Given the description of an element on the screen output the (x, y) to click on. 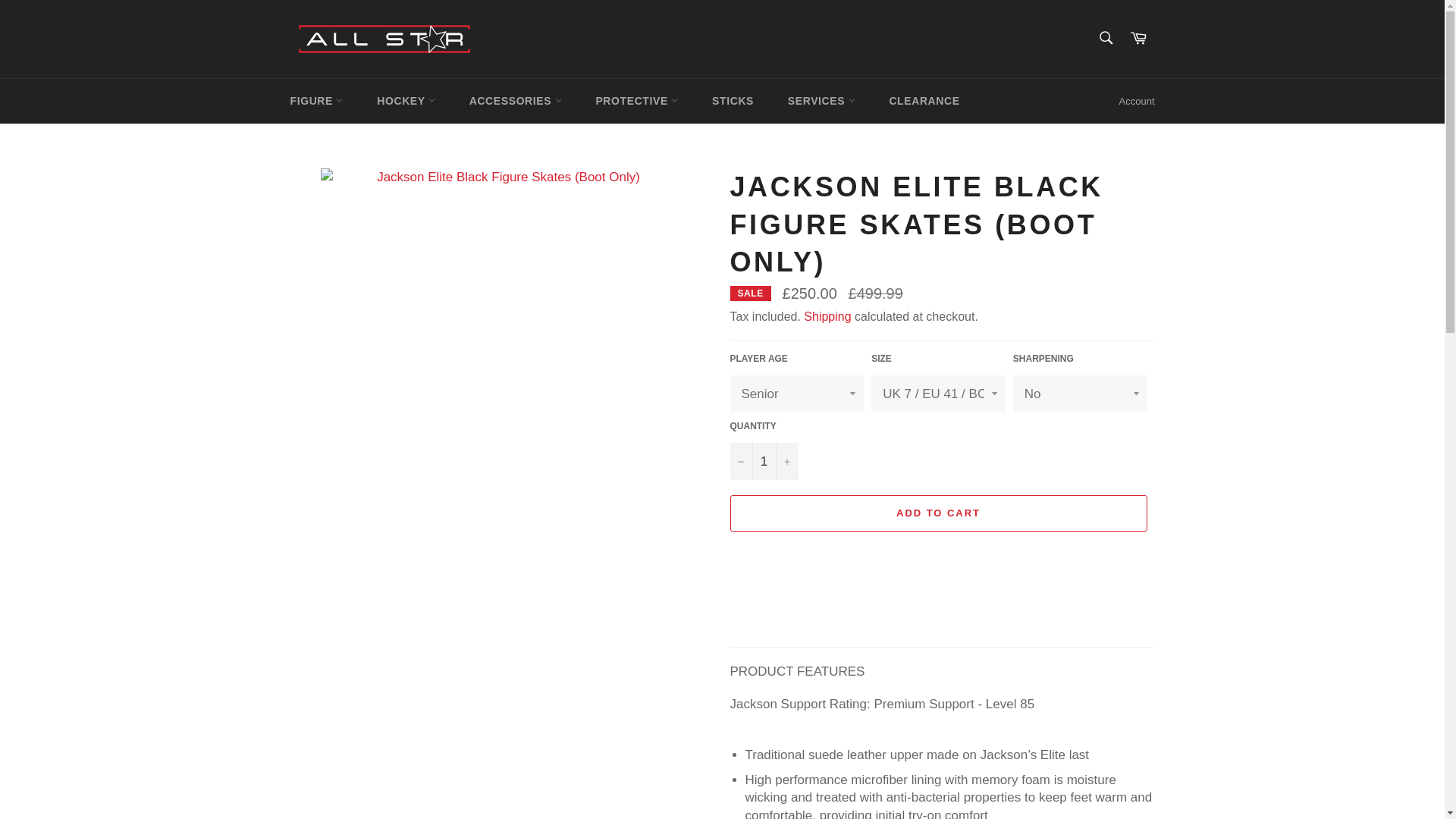
1 (763, 461)
